Given the description of an element on the screen output the (x, y) to click on. 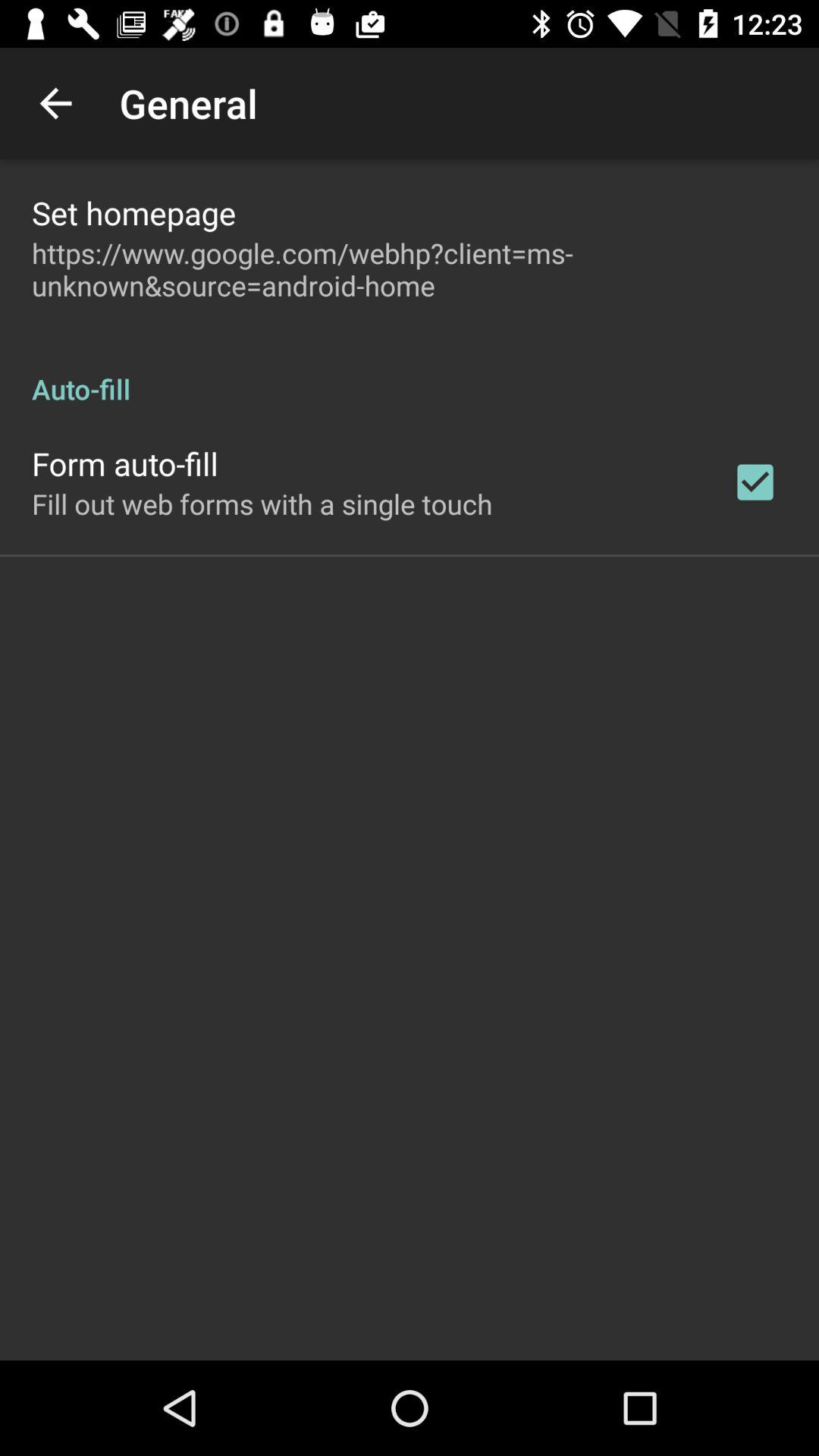
choose item above set homepage app (55, 103)
